Given the description of an element on the screen output the (x, y) to click on. 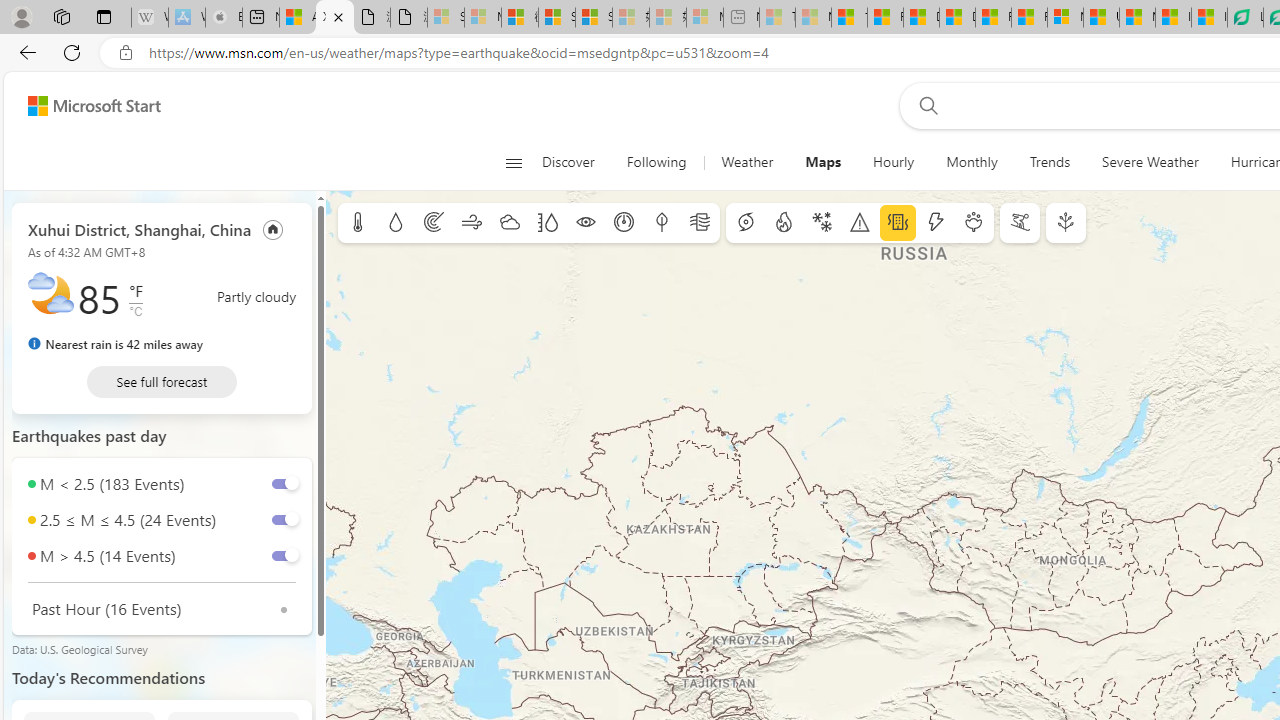
E-tree (1066, 223)
Web search (924, 105)
